Given the description of an element on the screen output the (x, y) to click on. 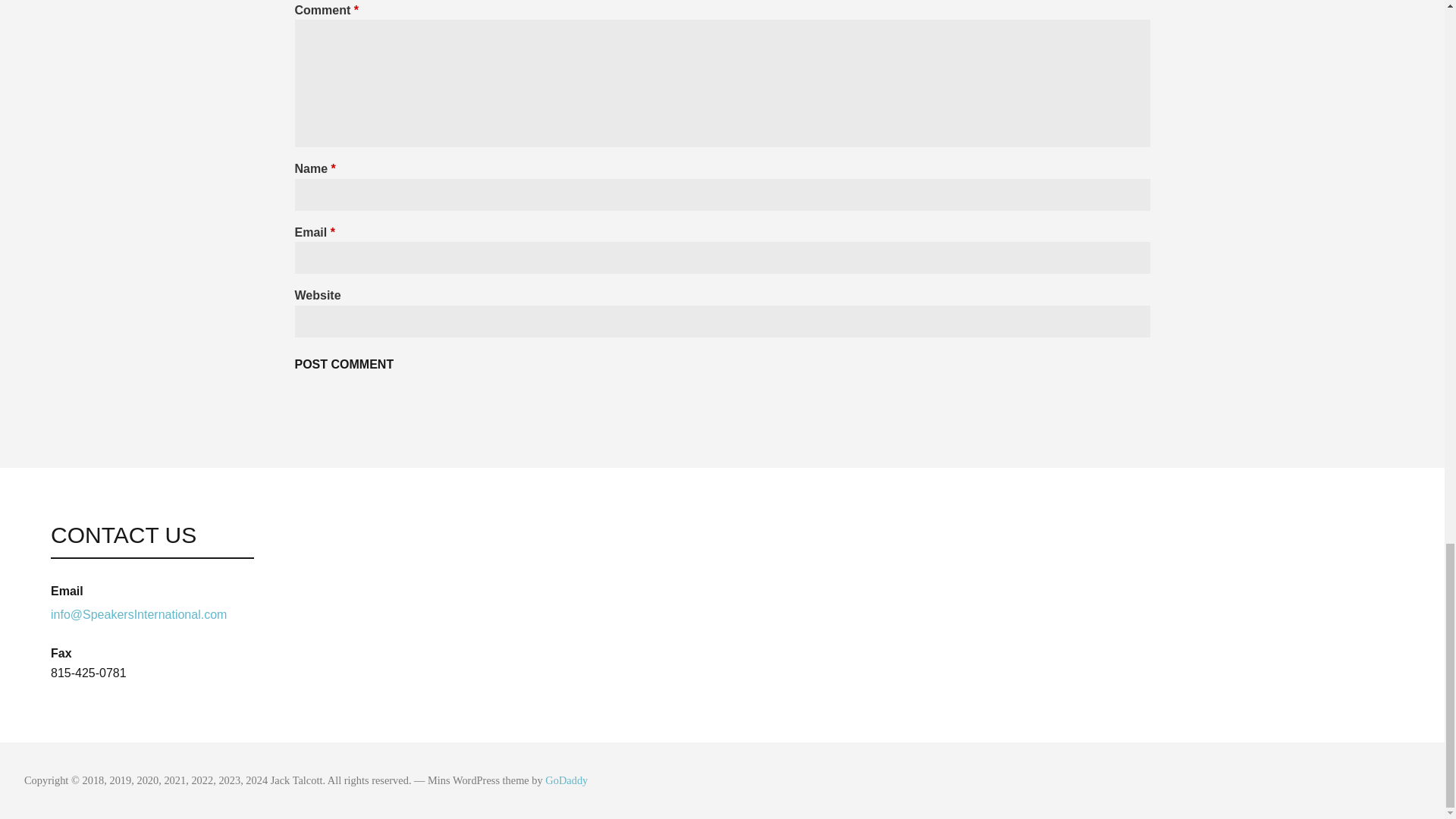
Post Comment (343, 364)
Post Comment (343, 364)
GoDaddy (566, 779)
